Given the description of an element on the screen output the (x, y) to click on. 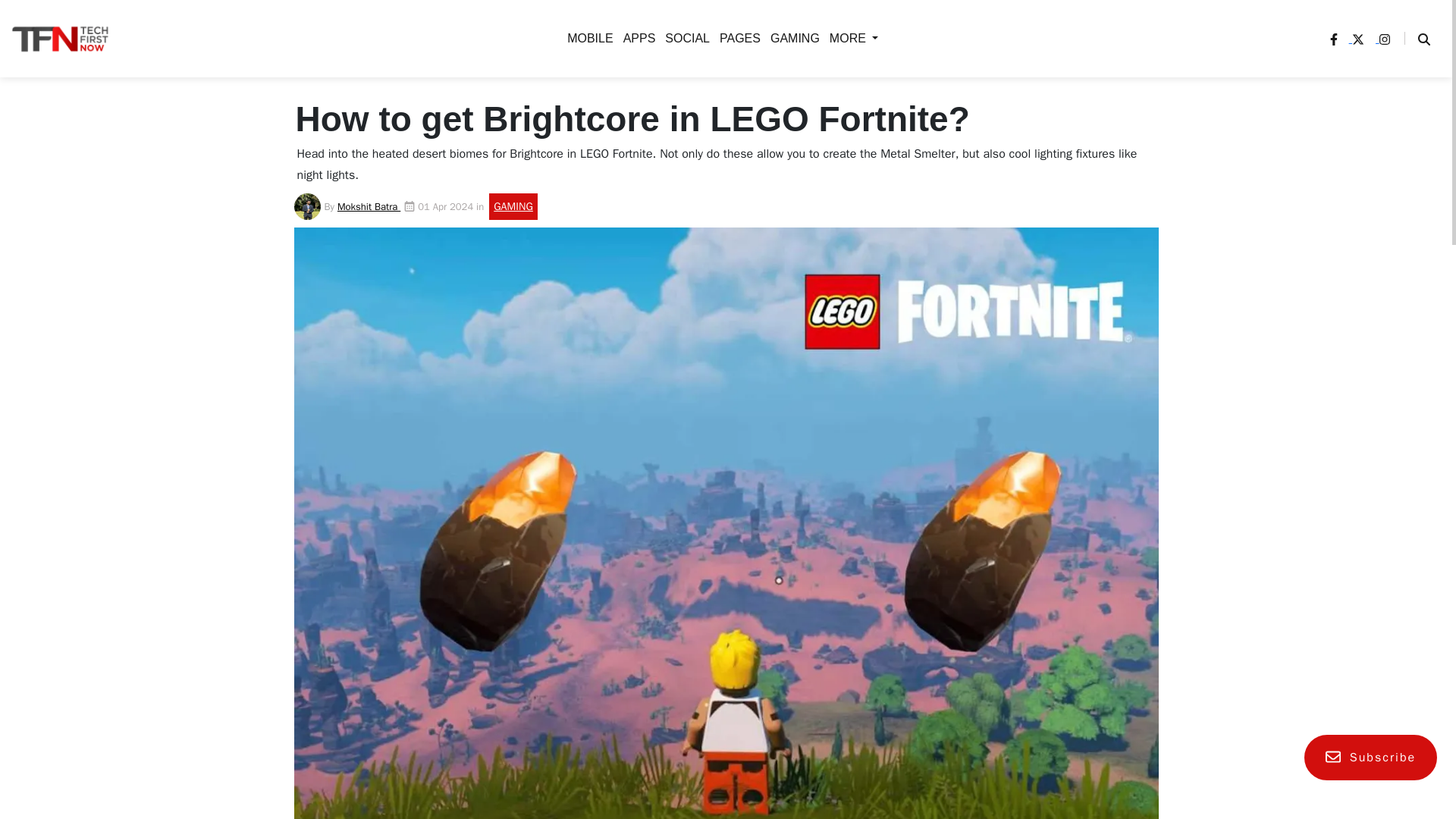
Mokshit Batra (368, 205)
GAMING (394, 158)
TECHNOLOGY (796, 38)
